Given the description of an element on the screen output the (x, y) to click on. 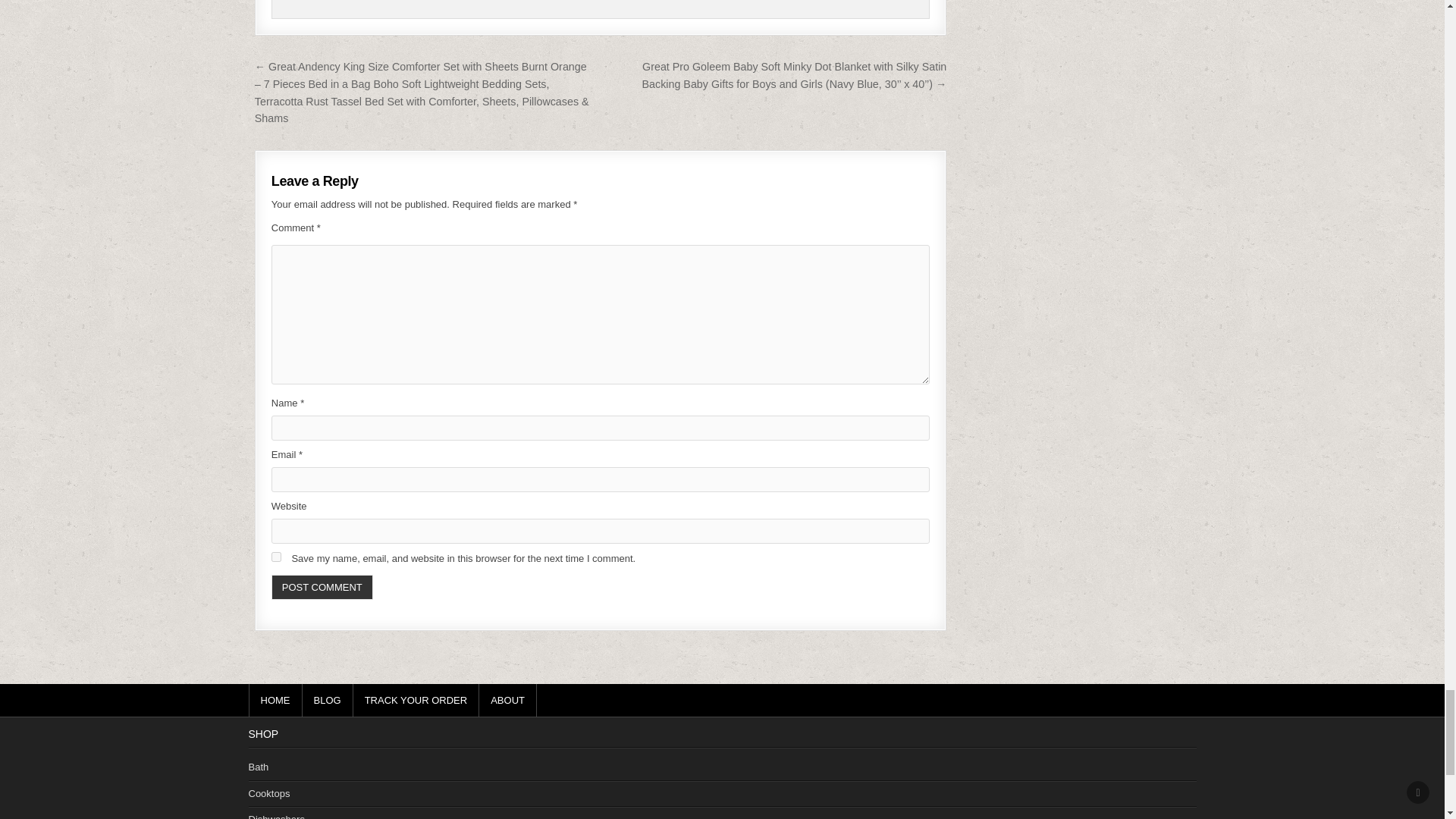
ABOUT (508, 699)
Dishwashers (276, 816)
Cooktops (268, 793)
HOME (275, 699)
BLOG (326, 699)
yes (275, 556)
Post Comment (321, 586)
Post Comment (321, 586)
TRACK YOUR ORDER (416, 699)
Bath (258, 767)
